Given the description of an element on the screen output the (x, y) to click on. 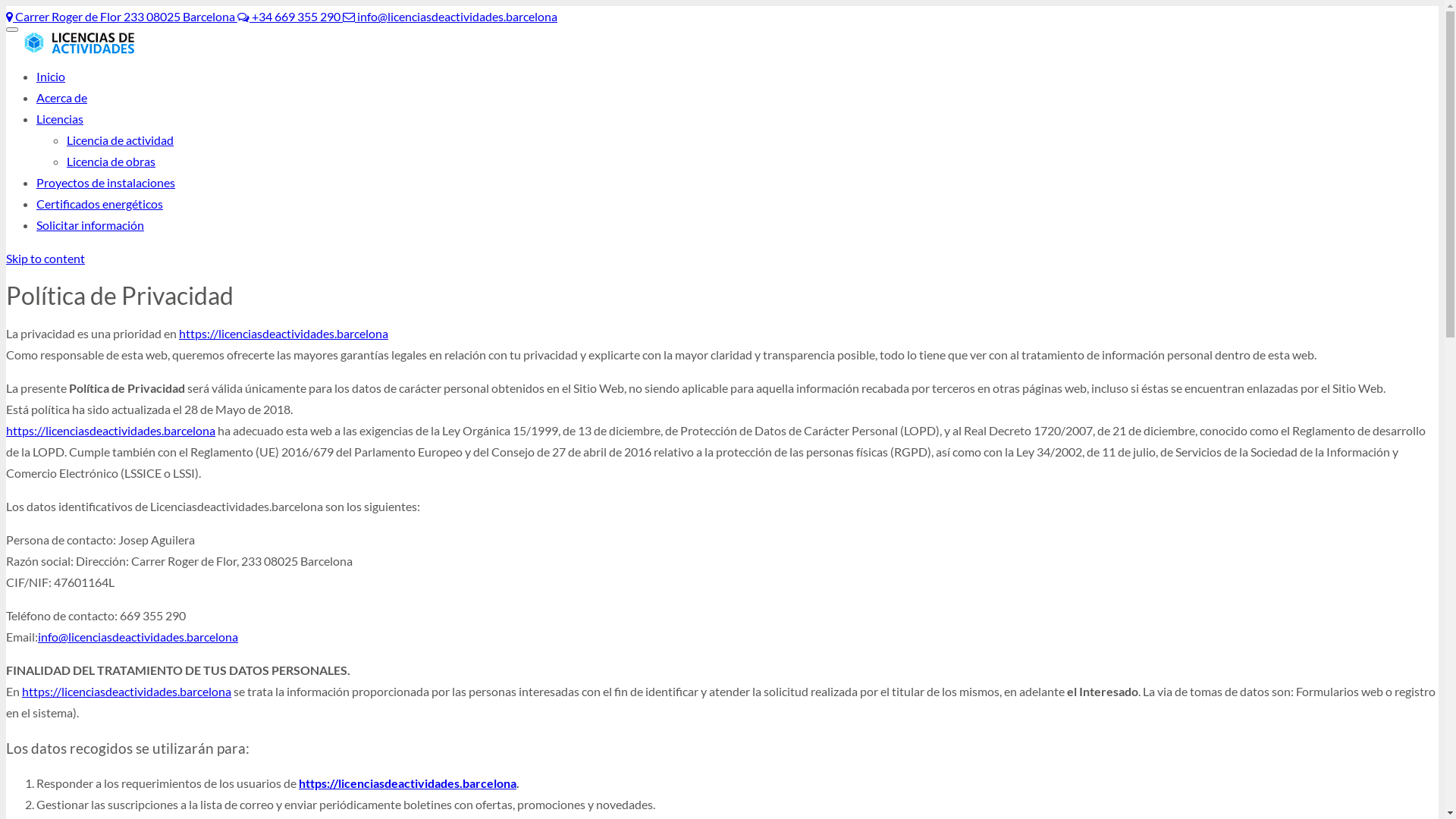
Proyectos de instalaciones Element type: text (105, 182)
Toggle navigation Element type: text (12, 29)
Acerca de Element type: text (61, 97)
Carrer Roger de Flor 233 08025 Barcelona Element type: text (121, 16)
Skip to content Element type: text (45, 258)
Inicio Element type: text (50, 76)
Licencias Element type: text (59, 118)
Licencia de obras Element type: text (110, 160)
+34 669 355 290 Element type: text (289, 16)
https://licenciasdeactividades.barcelona Element type: text (126, 691)
https://licenciasdeactividades.barcelona Element type: text (110, 430)
https://licenciasdeactividades.barcelona Element type: text (407, 782)
info@licenciasdeactividades.barcelona Element type: text (137, 636)
info@licenciasdeactividades.barcelona Element type: text (449, 16)
https://licenciasdeactividades.barcelona Element type: text (283, 333)
Licencia de actividad Element type: text (119, 139)
